Given the description of an element on the screen output the (x, y) to click on. 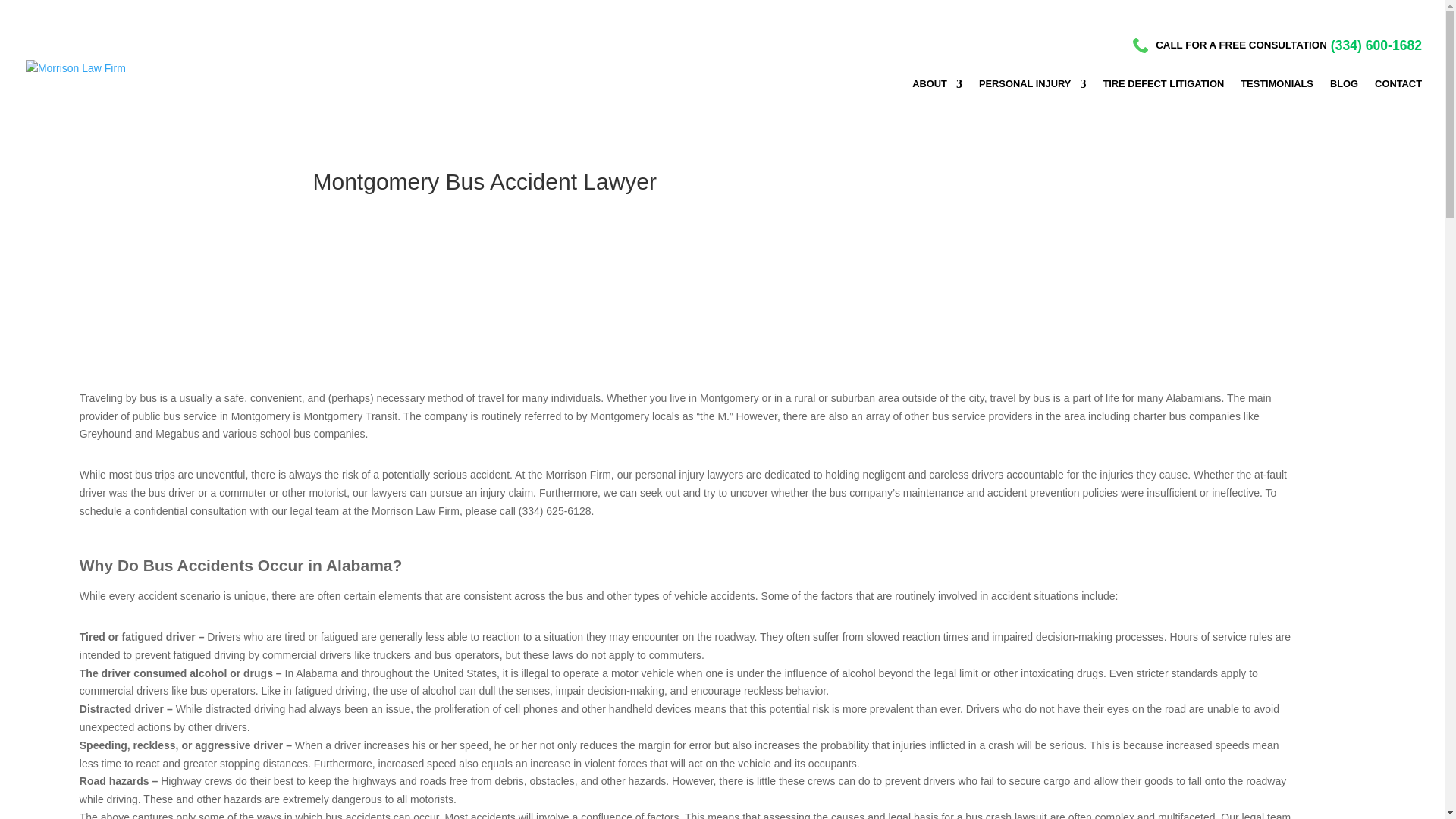
PERSONAL INJURY (1032, 92)
TIRE DEFECT LITIGATION (1163, 92)
ABOUT (937, 92)
CONTACT (1398, 92)
TESTIMONIALS (1276, 92)
